Given the description of an element on the screen output the (x, y) to click on. 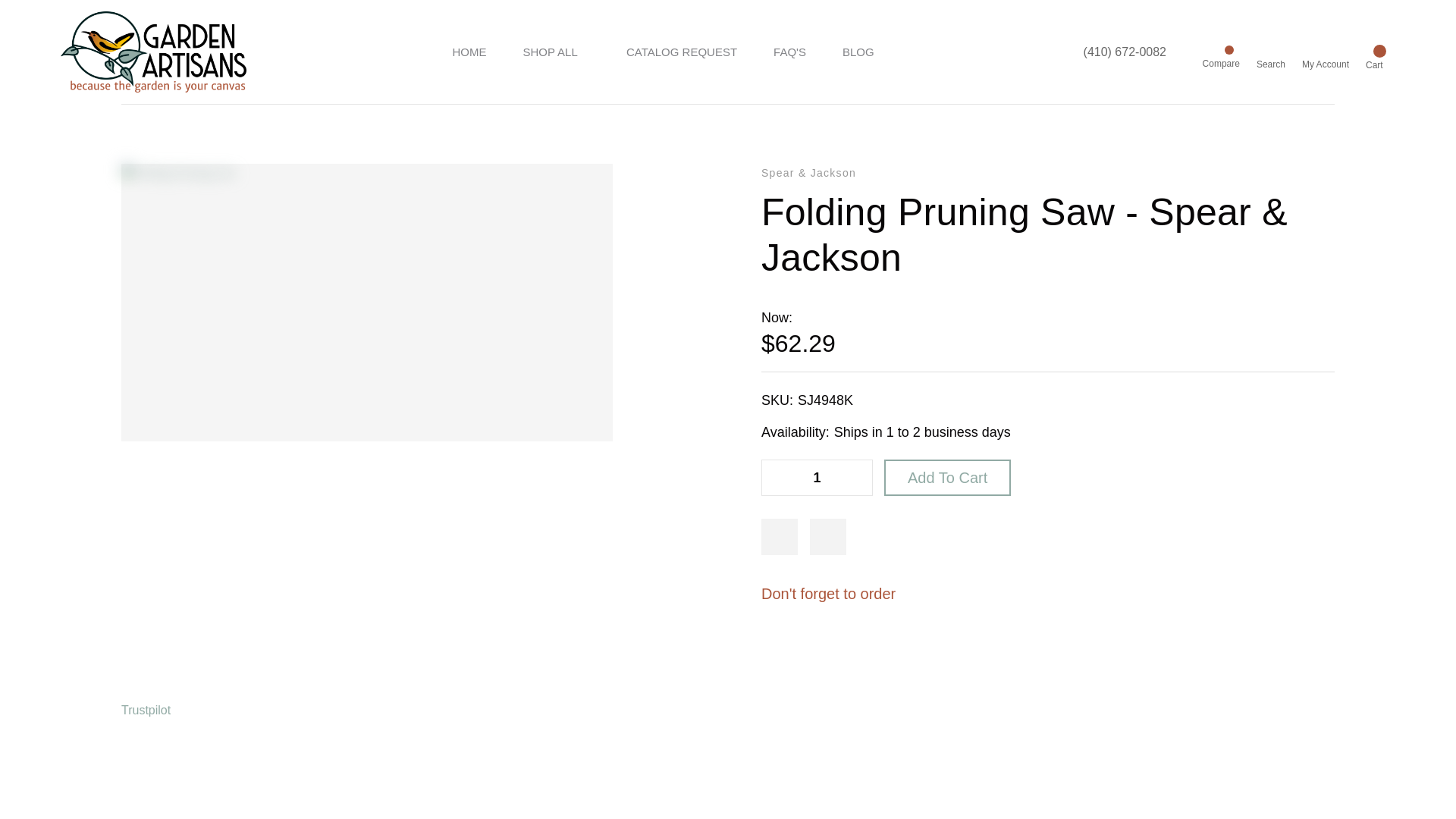
Print (860, 655)
Twitter (903, 655)
Email (818, 655)
SHOP ALL (555, 51)
Garden Artisans LLC (153, 51)
Facebook (776, 655)
1 (816, 477)
Pinterest (945, 655)
Compare (1221, 44)
